Given the description of an element on the screen output the (x, y) to click on. 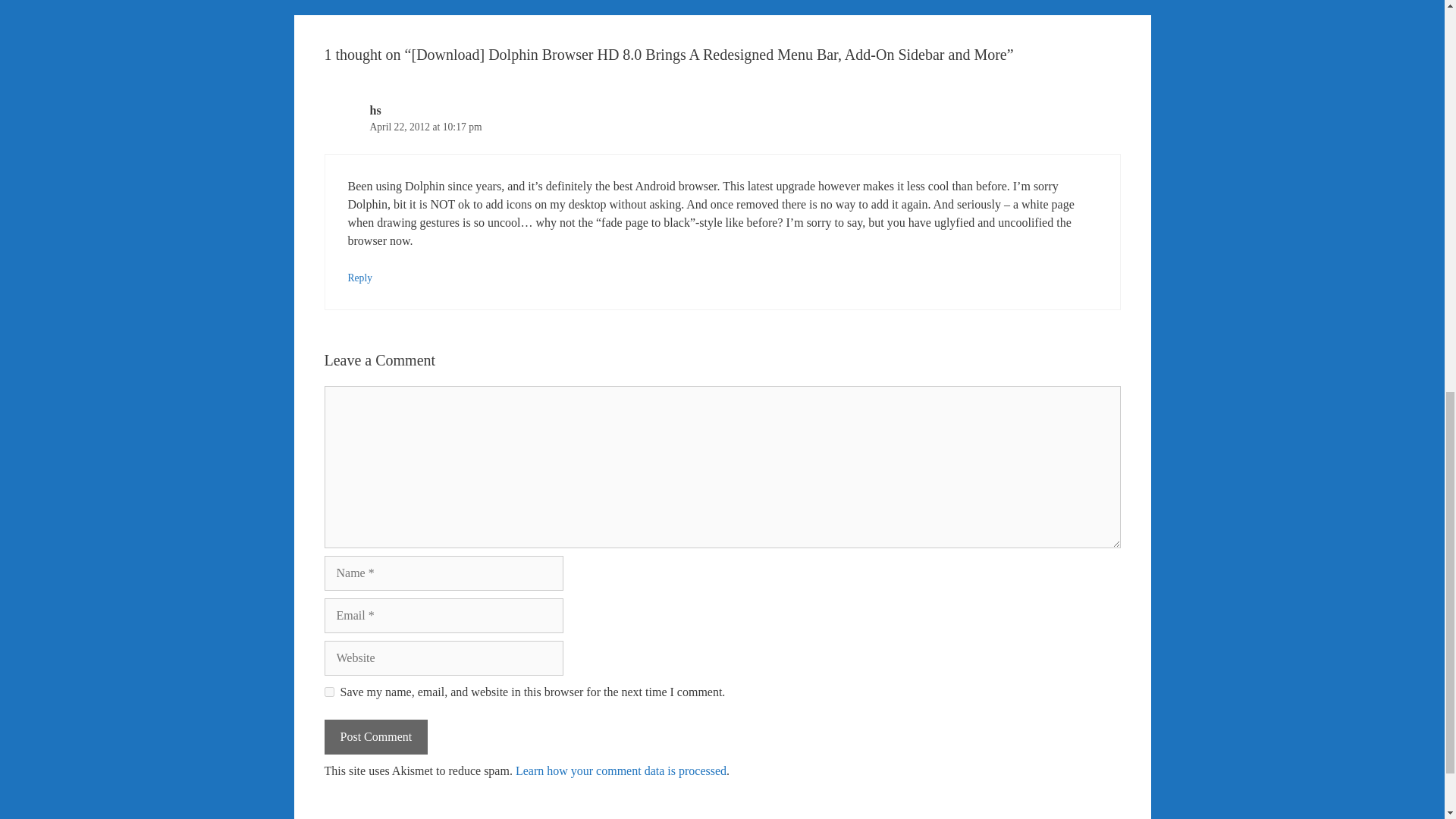
yes (329, 691)
Post Comment (376, 736)
Learn how your comment data is processed (620, 770)
Scroll back to top (1406, 720)
April 22, 2012 at 10:17 pm (425, 126)
Reply (359, 277)
Post Comment (376, 736)
